Given the description of an element on the screen output the (x, y) to click on. 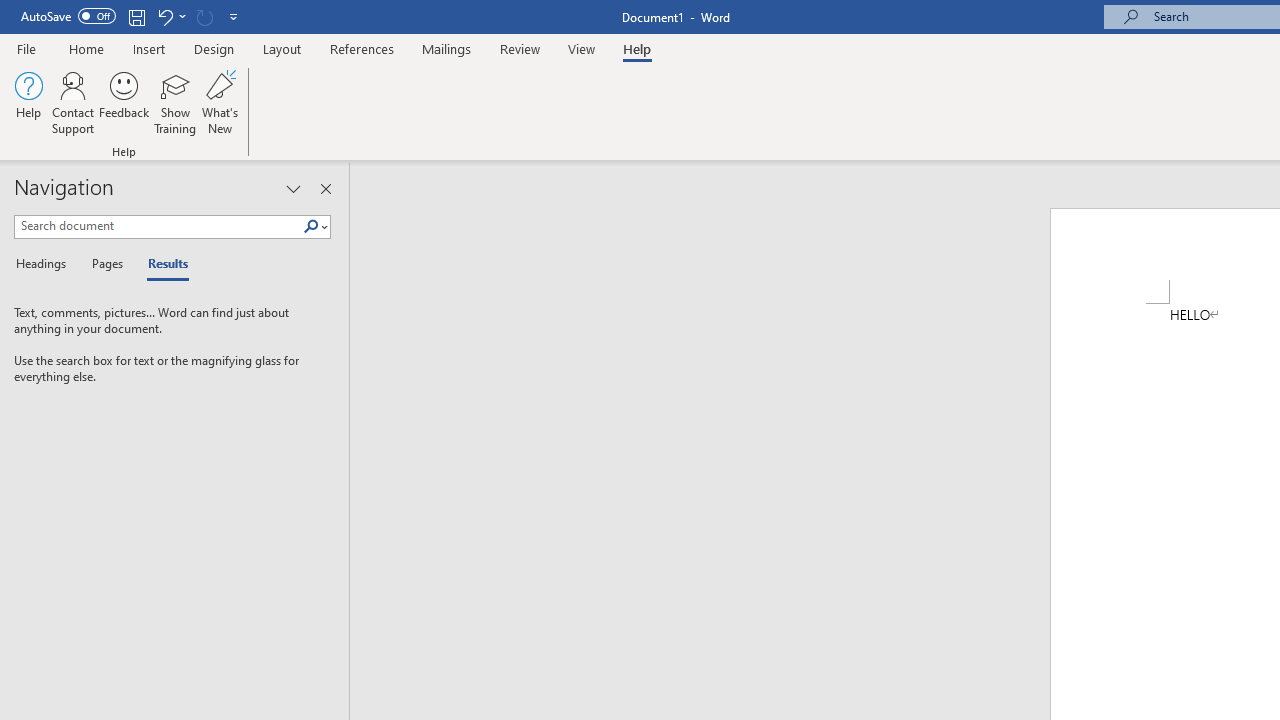
Contact Support... (73, 102)
Quick Access Toolbar (131, 16)
Design (214, 48)
Pages (105, 264)
Repeat Copy (204, 15)
File Tab (26, 48)
What's New (219, 102)
Customize Quick Access Toolbar (234, 15)
System (10, 11)
Help (637, 48)
Headings (45, 264)
More Options (182, 15)
Insert (149, 48)
Search (315, 227)
